Given the description of an element on the screen output the (x, y) to click on. 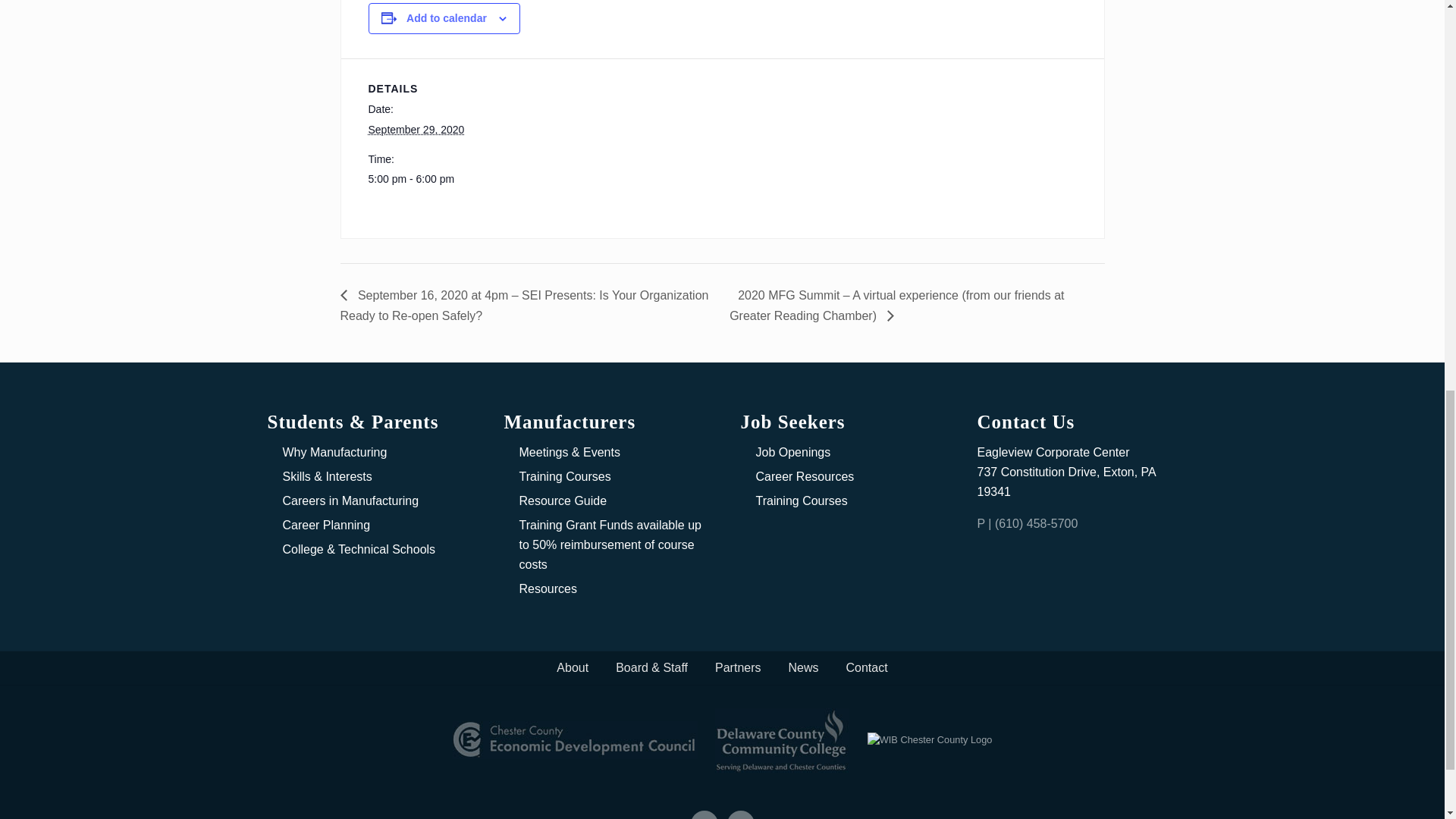
2020-09-29 (432, 179)
2020-09-29 (416, 129)
